Given the description of an element on the screen output the (x, y) to click on. 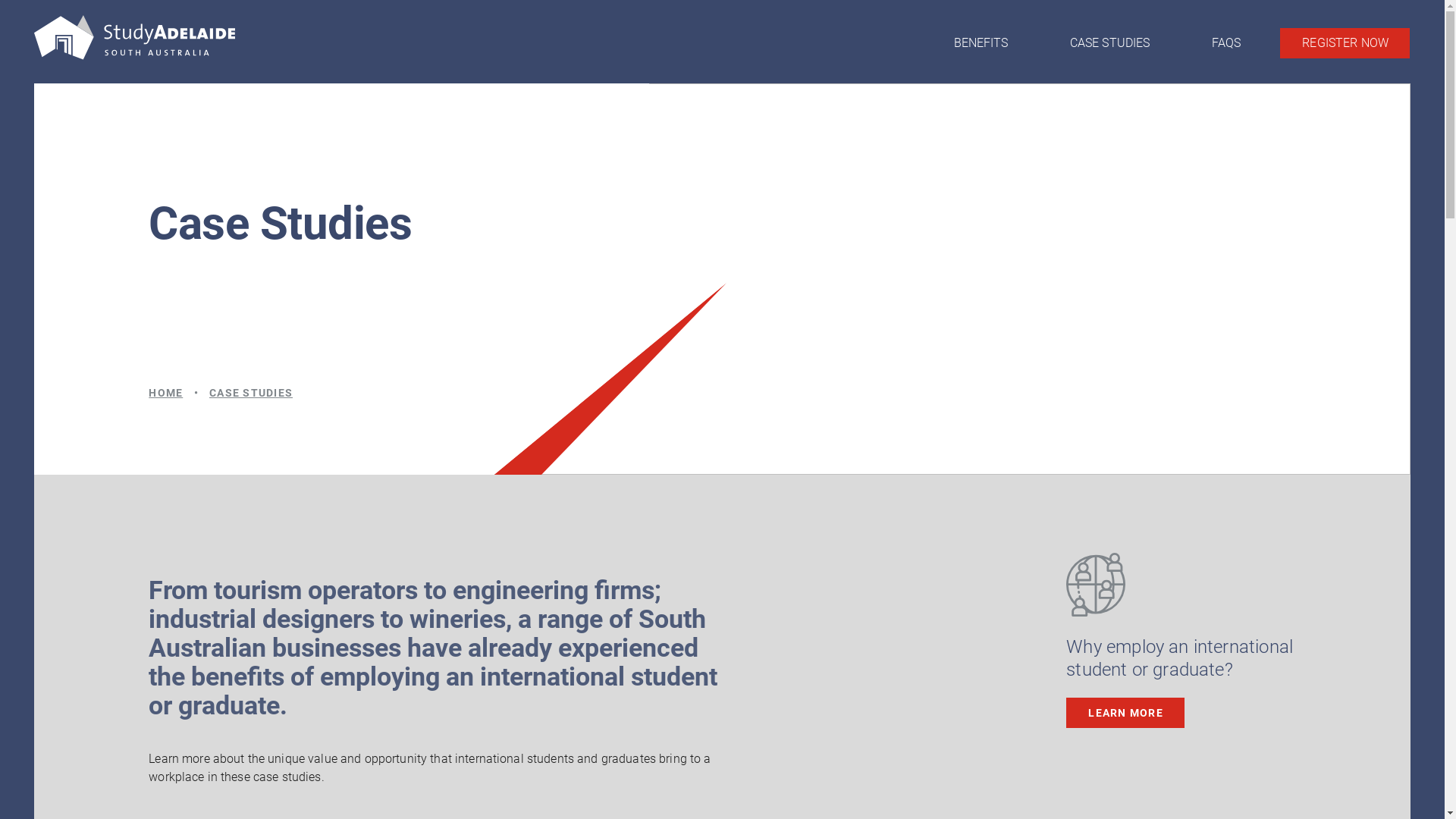
REGISTER NOW Element type: text (1344, 43)
CASE STUDIES Element type: text (250, 392)
LEARN MORE Element type: text (1125, 712)
HOME Element type: text (165, 392)
BENEFITS Element type: text (980, 43)
CASE STUDIES Element type: text (1109, 43)
FAQS Element type: text (1225, 43)
